Given the description of an element on the screen output the (x, y) to click on. 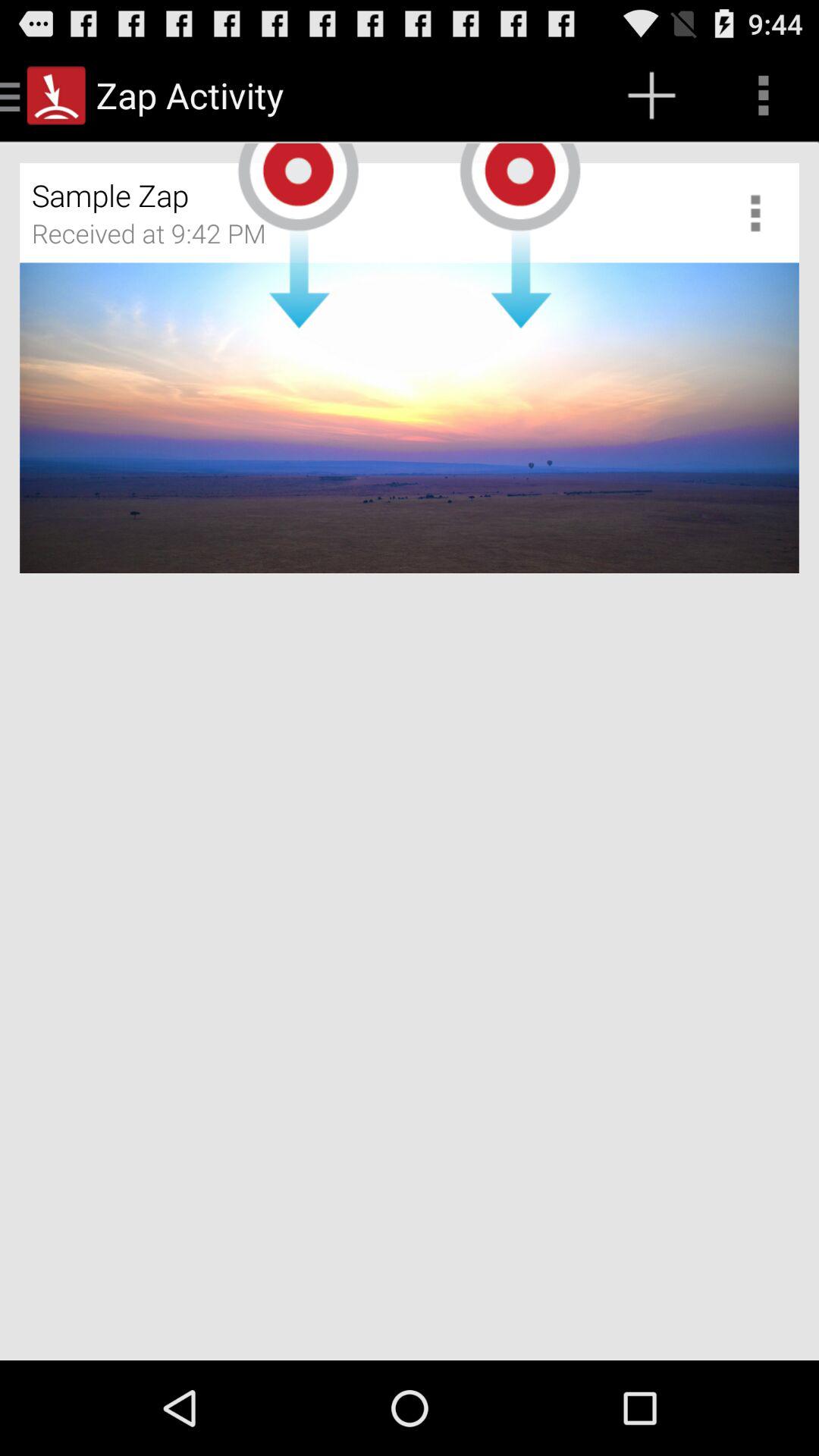
select the received at 9 item (158, 238)
